Given the description of an element on the screen output the (x, y) to click on. 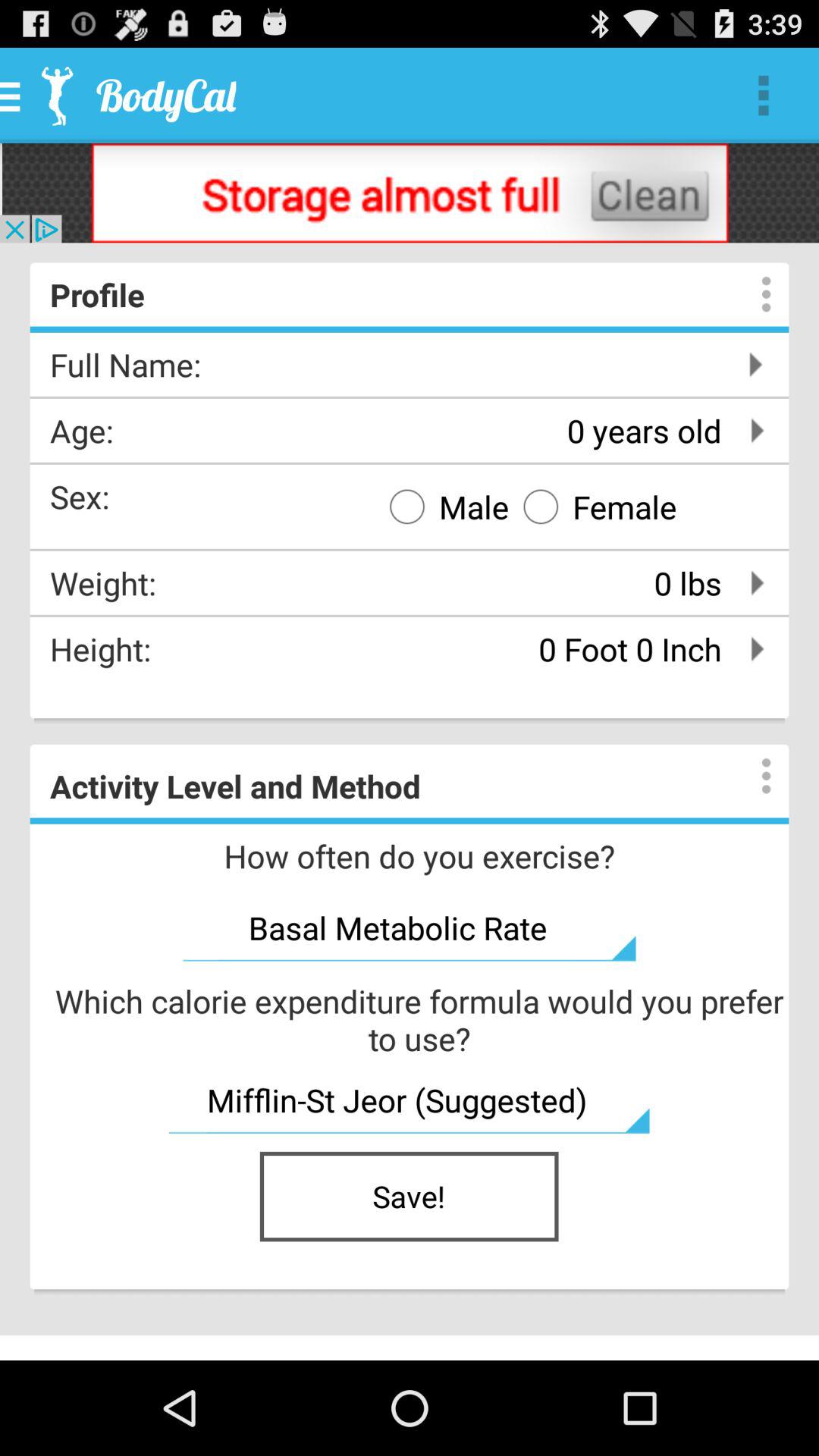
see details (750, 294)
